Given the description of an element on the screen output the (x, y) to click on. 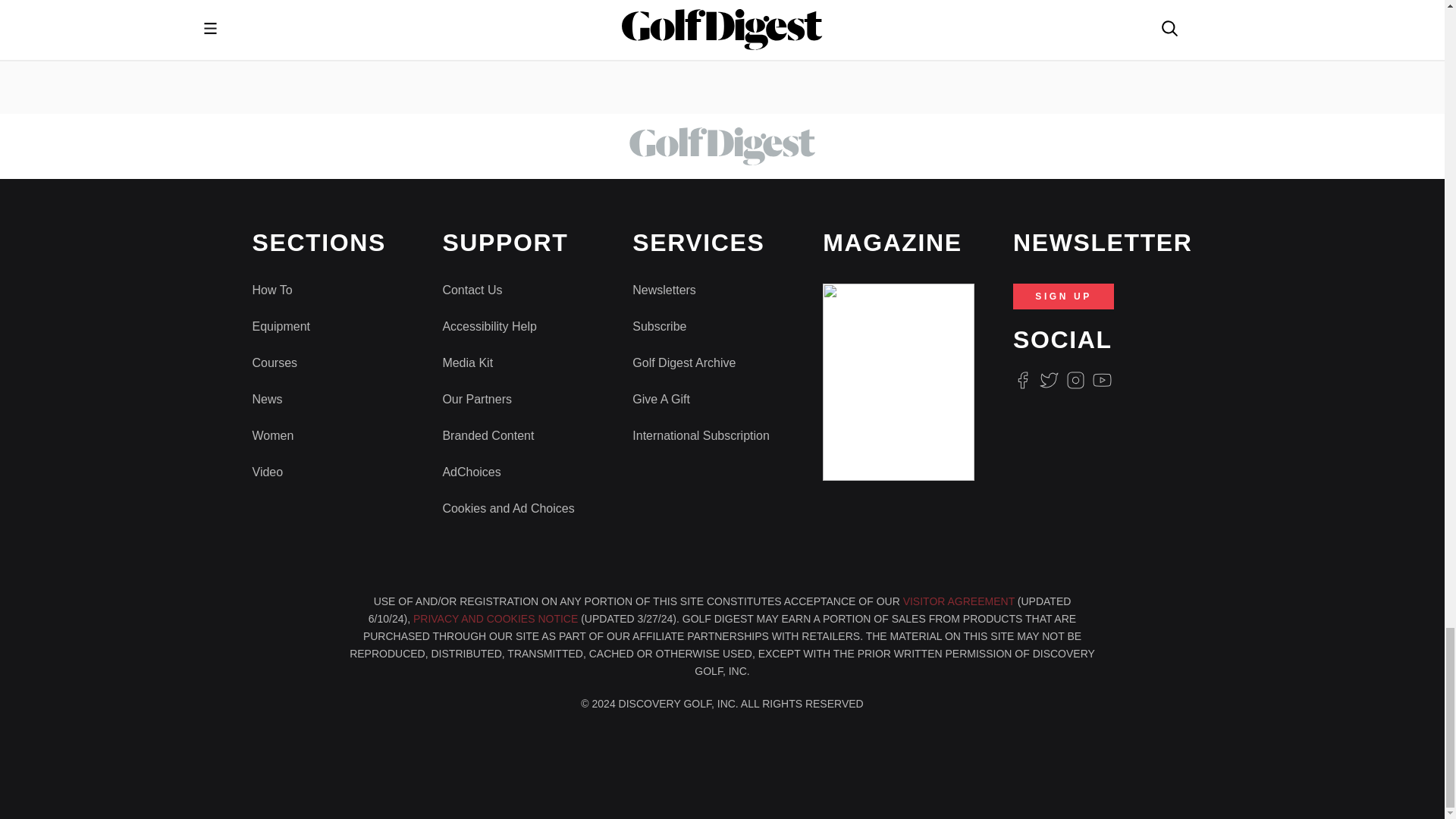
Instagram Logo (1074, 380)
Facebook Logo (1022, 380)
Youtube Icon (1102, 380)
Twitter Logo (1048, 380)
